Given the description of an element on the screen output the (x, y) to click on. 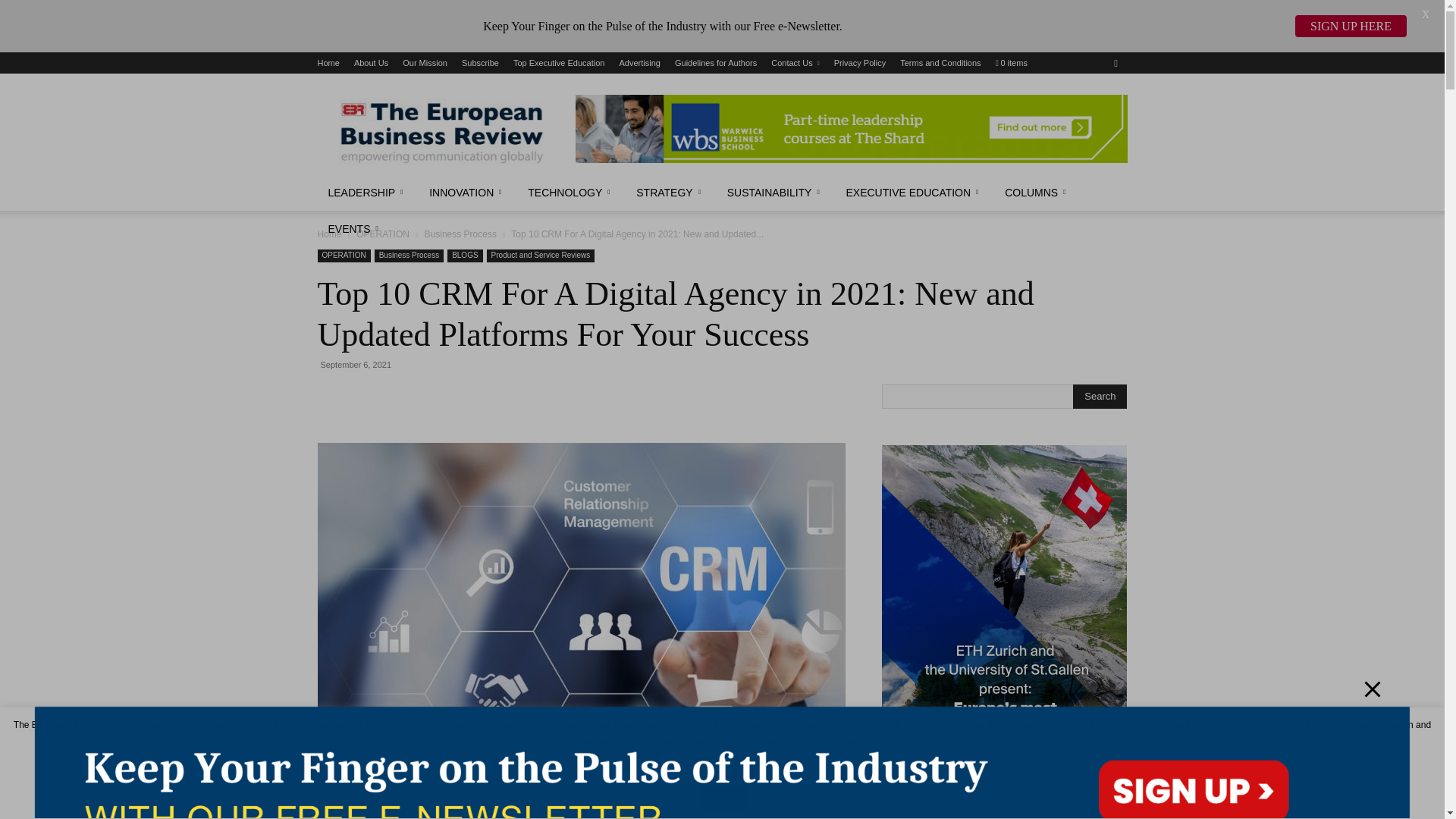
View all posts in Business Process (460, 234)
View all posts in OPERATION (382, 234)
Start shopping (1011, 62)
Innovation (467, 192)
advertisement (850, 128)
Search (1099, 396)
